Given the description of an element on the screen output the (x, y) to click on. 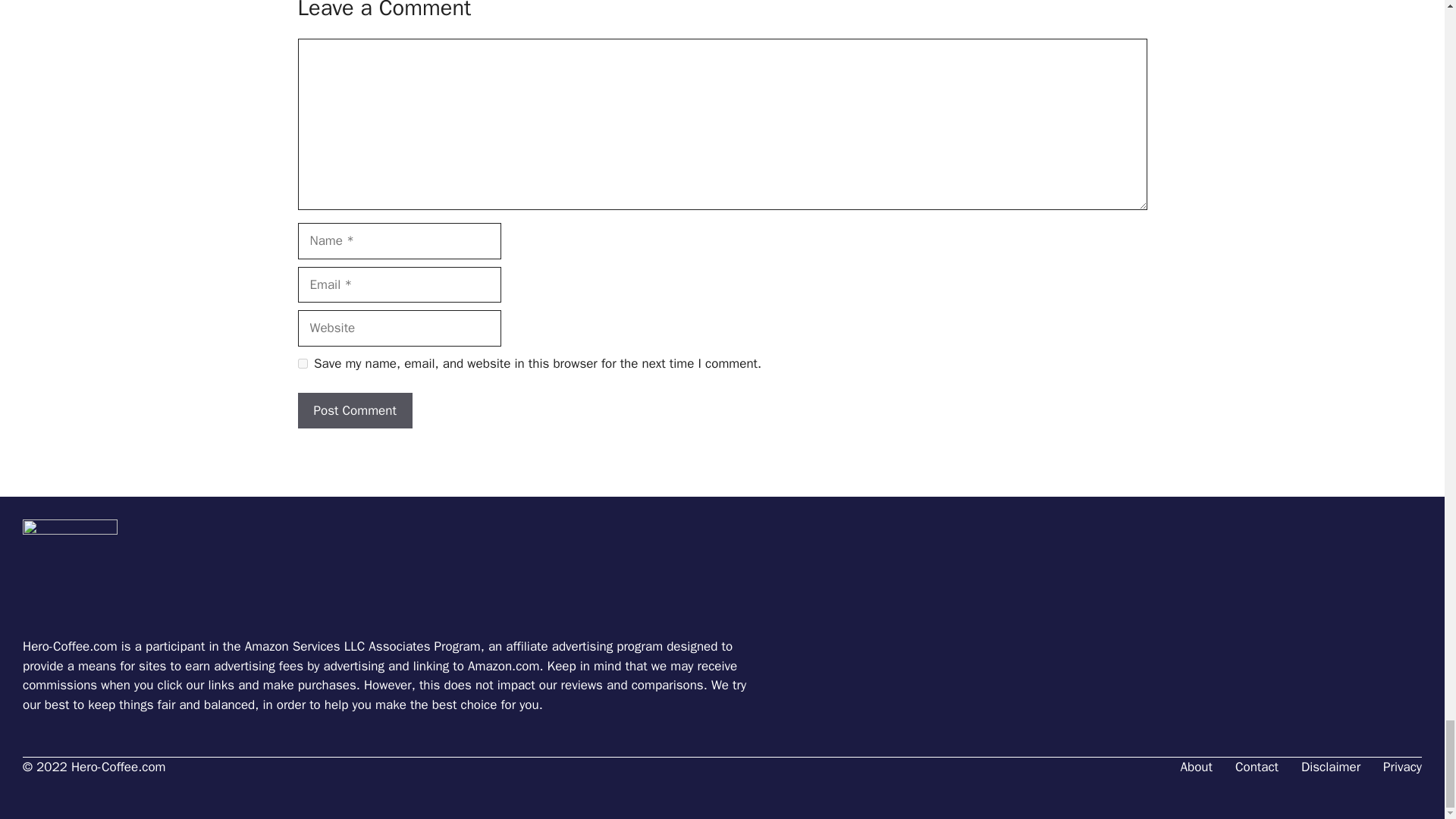
Privacy (1402, 767)
Disclaimer (1330, 767)
Contact (1256, 767)
yes (302, 363)
Post Comment (354, 411)
About (1196, 767)
Post Comment (354, 411)
